Given the description of an element on the screen output the (x, y) to click on. 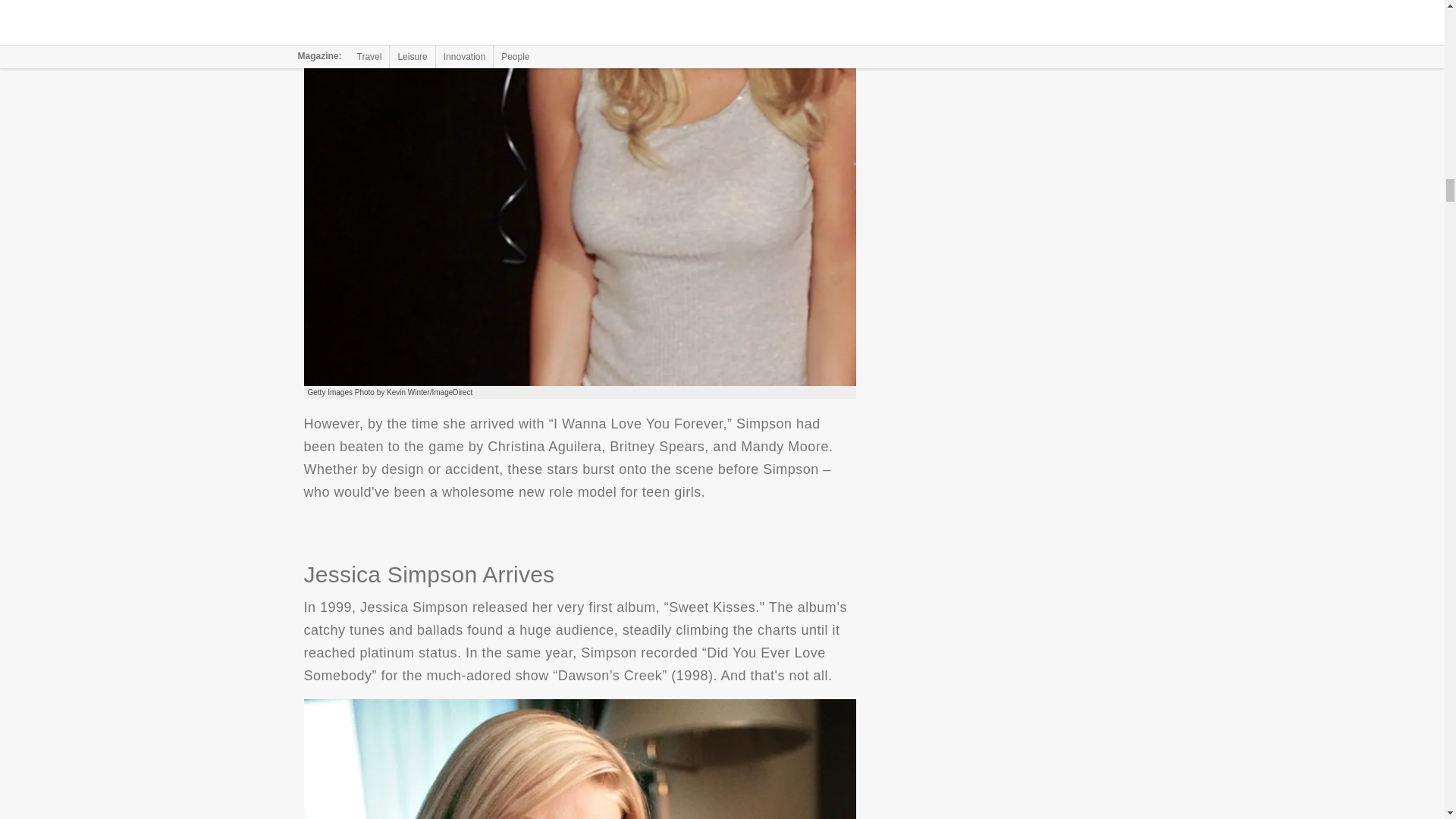
Jessica Simpson Arrives (579, 759)
